Given the description of an element on the screen output the (x, y) to click on. 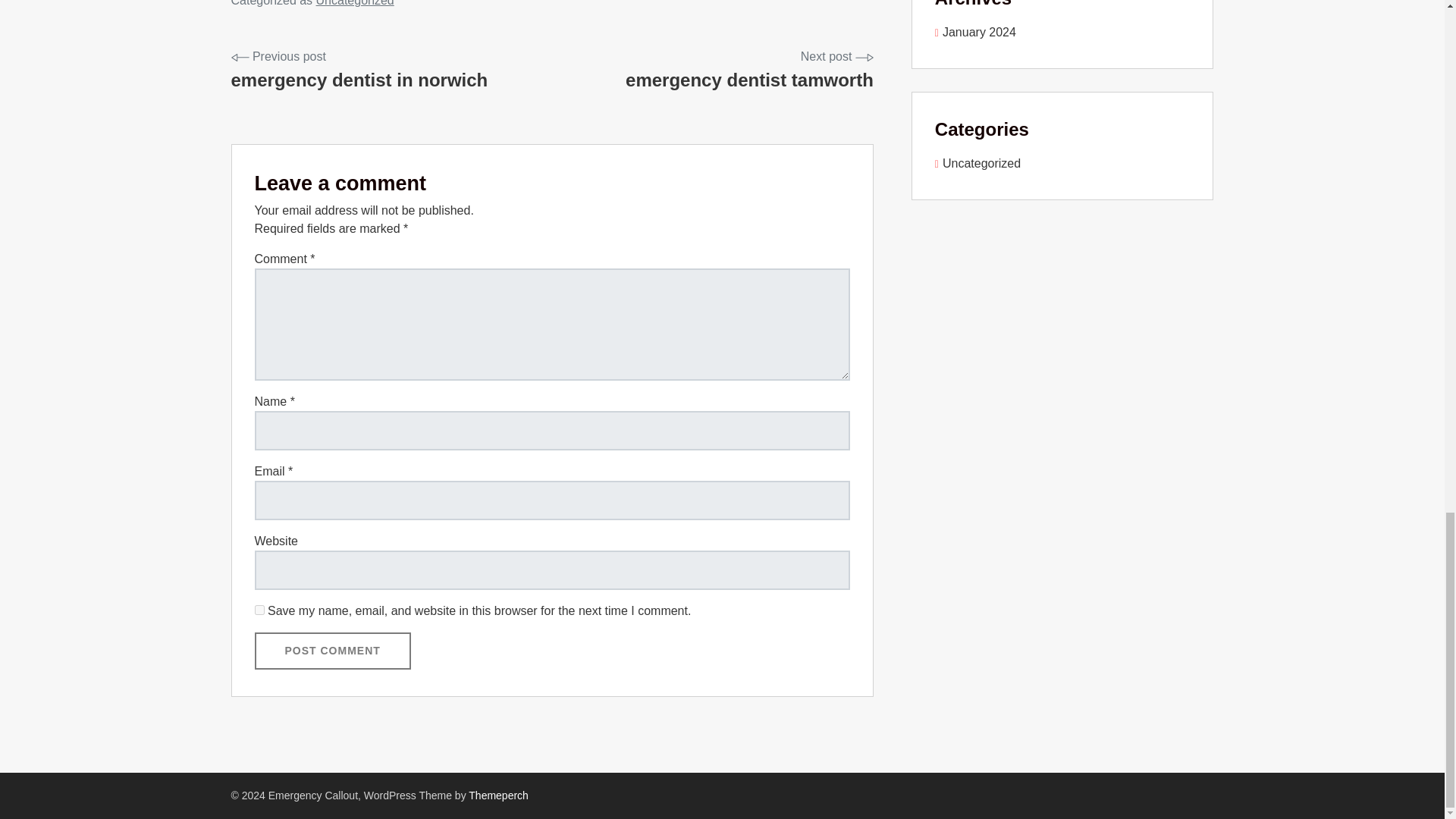
Post Comment (332, 650)
yes (259, 610)
Themeperch (498, 795)
Post Comment (358, 70)
January 2024 (332, 650)
Uncategorized (975, 31)
Uncategorized (354, 3)
